Given the description of an element on the screen output the (x, y) to click on. 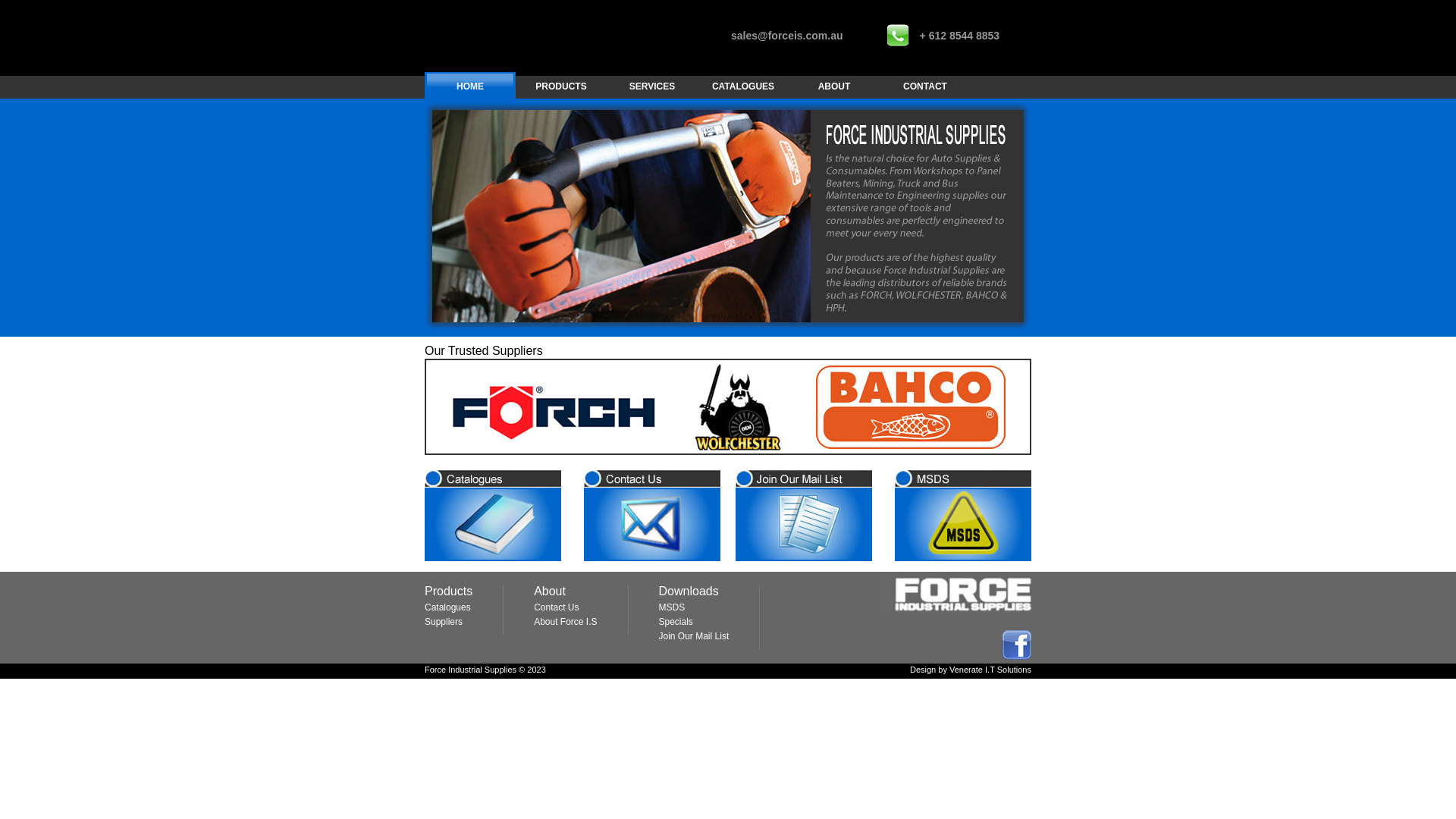
Products Element type: text (448, 590)
About Force I.S Element type: text (564, 621)
Downloads Element type: text (688, 590)
SERVICES Element type: text (651, 86)
MSDS Element type: text (671, 607)
Specials Element type: text (675, 621)
sales@forceis.com.au Element type: text (787, 35)
+ 612 8544 8853 Element type: text (959, 35)
PRODUCTS Element type: text (560, 86)
Venerate I.T Solutions Element type: text (990, 669)
ABOUT Element type: text (834, 86)
About Element type: text (549, 590)
Suppliers Element type: text (443, 621)
CATALOGUES Element type: text (743, 86)
HOME Element type: text (469, 86)
Join Our Mail List Element type: text (693, 635)
Contact Us Element type: text (555, 607)
Catalogues Element type: text (447, 607)
CONTACT Element type: text (925, 86)
